Given the description of an element on the screen output the (x, y) to click on. 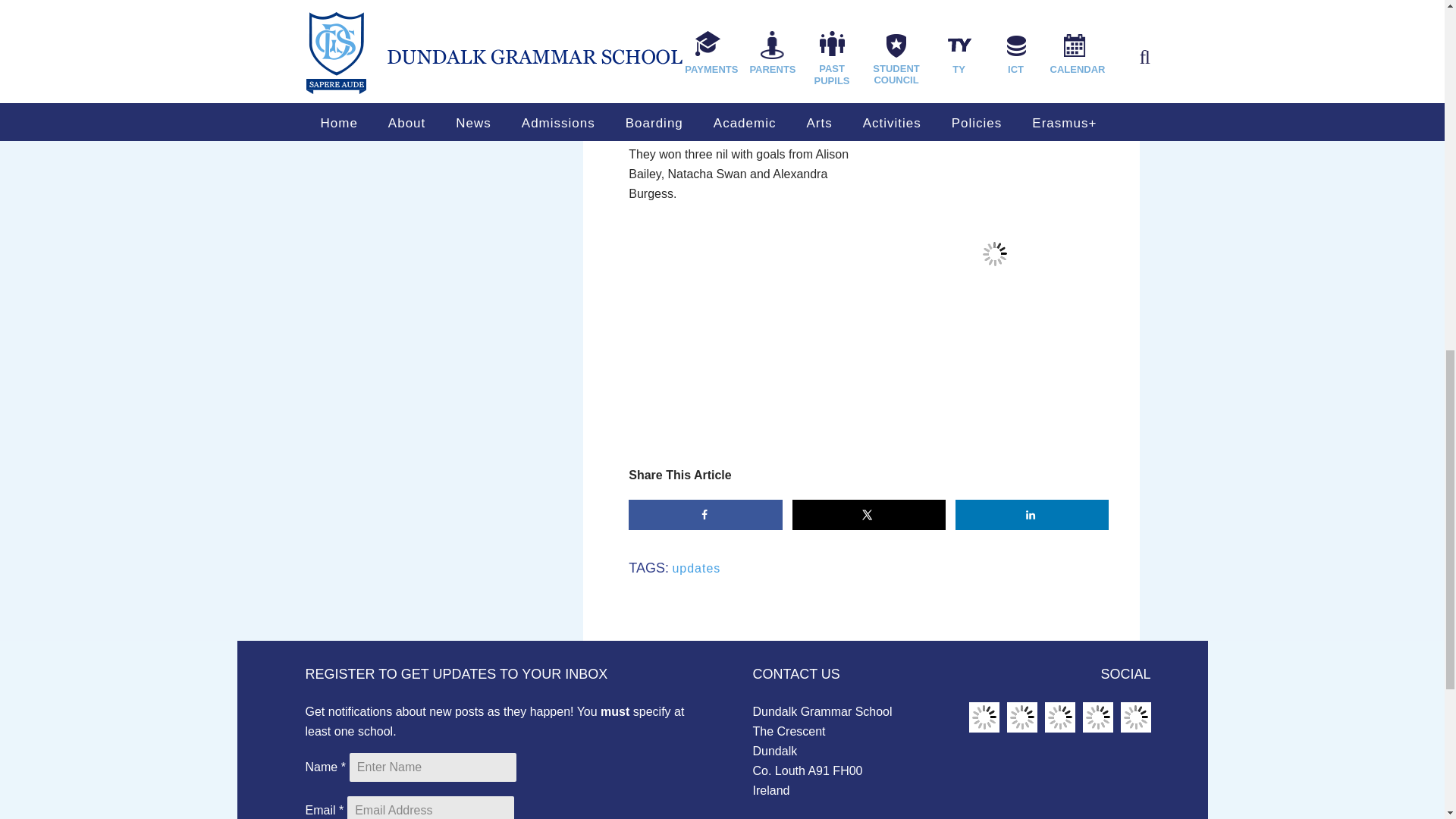
Share on Facebook (705, 514)
Share on X (869, 514)
Share on LinkedIn (1032, 514)
DGS Gallery (1136, 716)
